Given the description of an element on the screen output the (x, y) to click on. 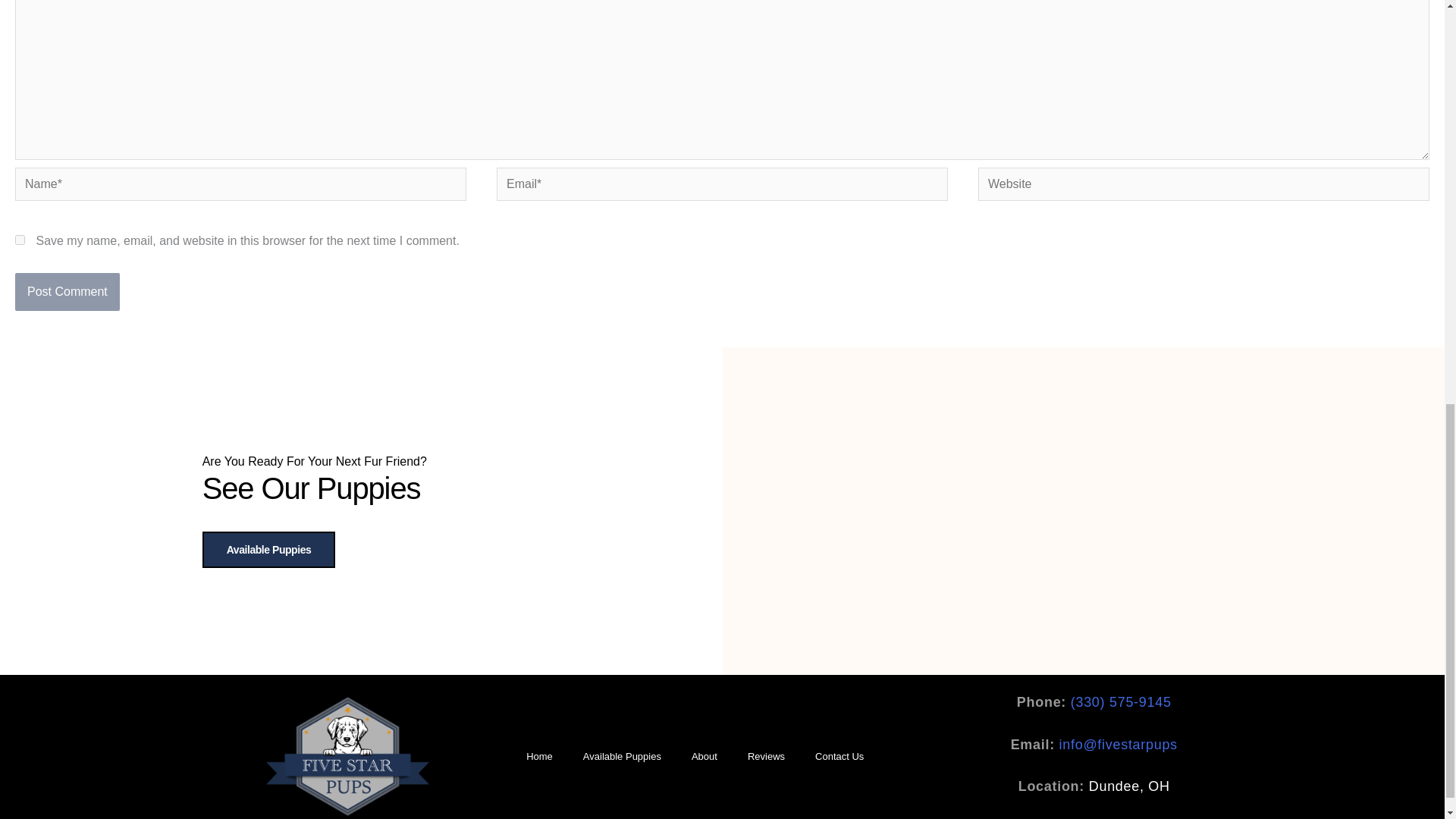
Available Puppies (622, 756)
Post Comment (66, 291)
About (704, 756)
yes (19, 239)
Reviews (765, 756)
Contact Us (839, 756)
Available Puppies (269, 549)
Home (539, 756)
Post Comment (66, 291)
